Given the description of an element on the screen output the (x, y) to click on. 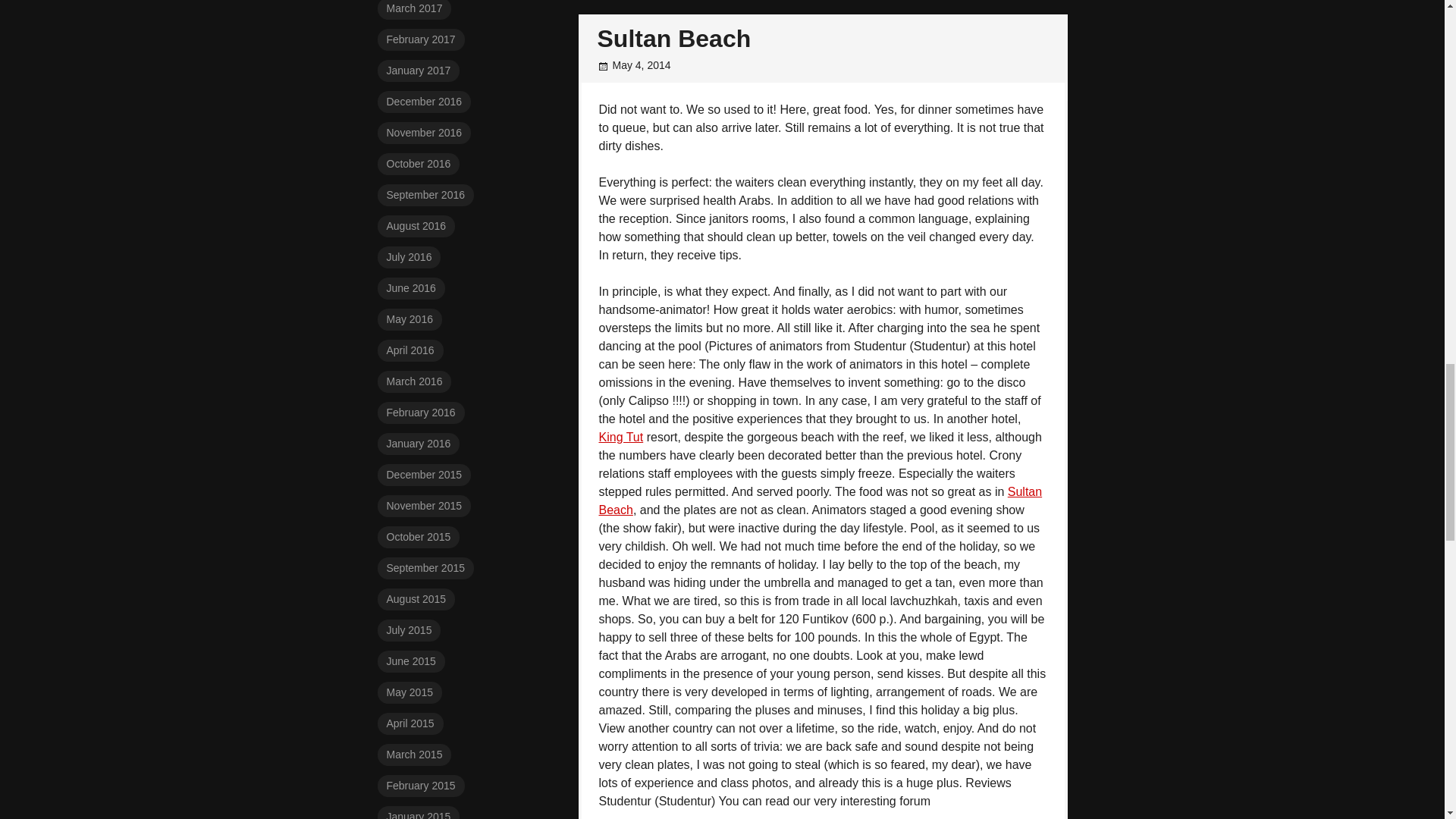
Sultan Beach (820, 500)
May 4, 2014 (641, 64)
King Tut (620, 436)
Sultan Beach (673, 38)
